Given the description of an element on the screen output the (x, y) to click on. 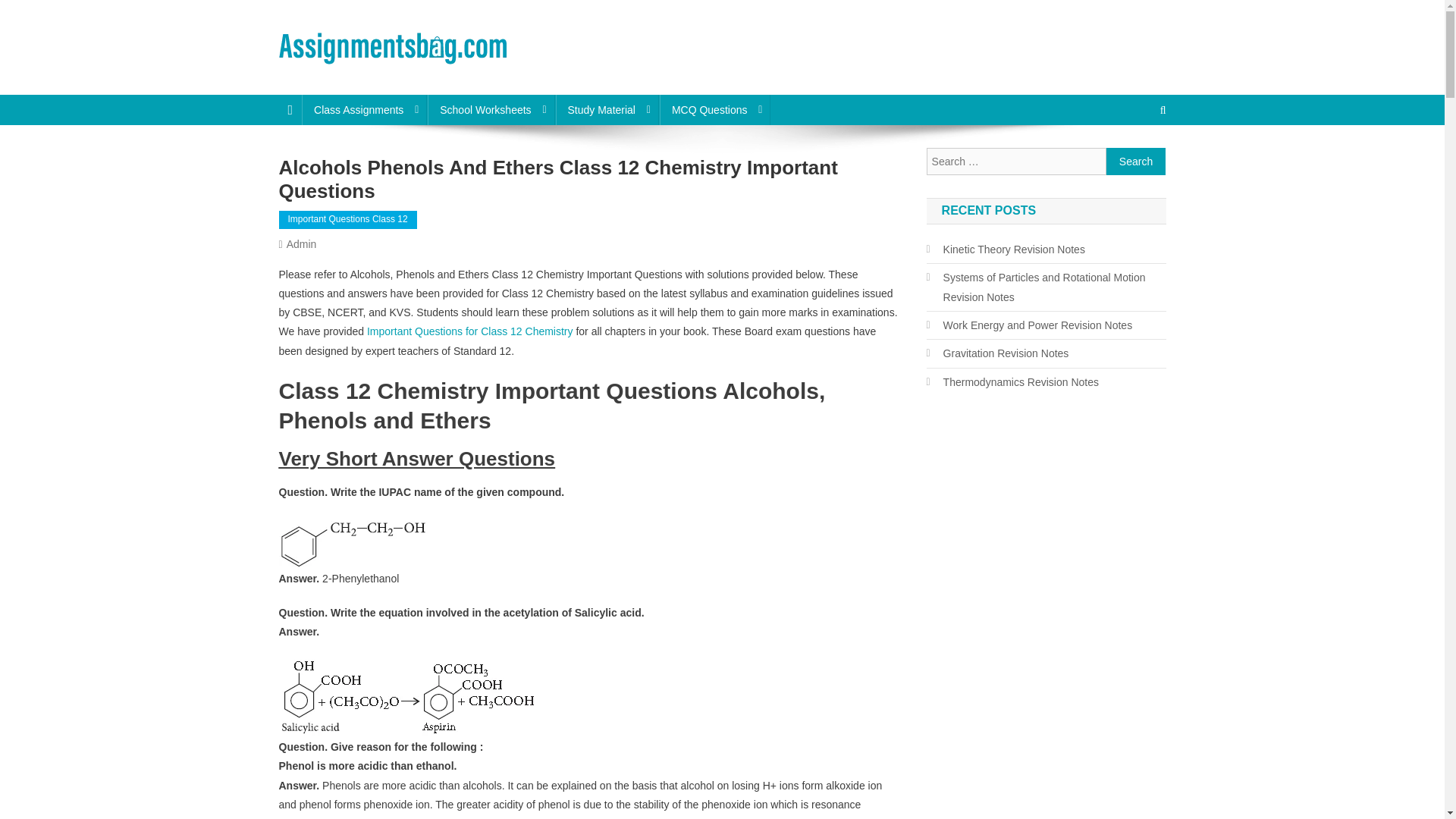
Study Material (606, 110)
Search (1136, 161)
Search (1136, 161)
School Worksheets (491, 110)
Class Assignments (363, 110)
AssignmentsBag.com (406, 79)
